Given the description of an element on the screen output the (x, y) to click on. 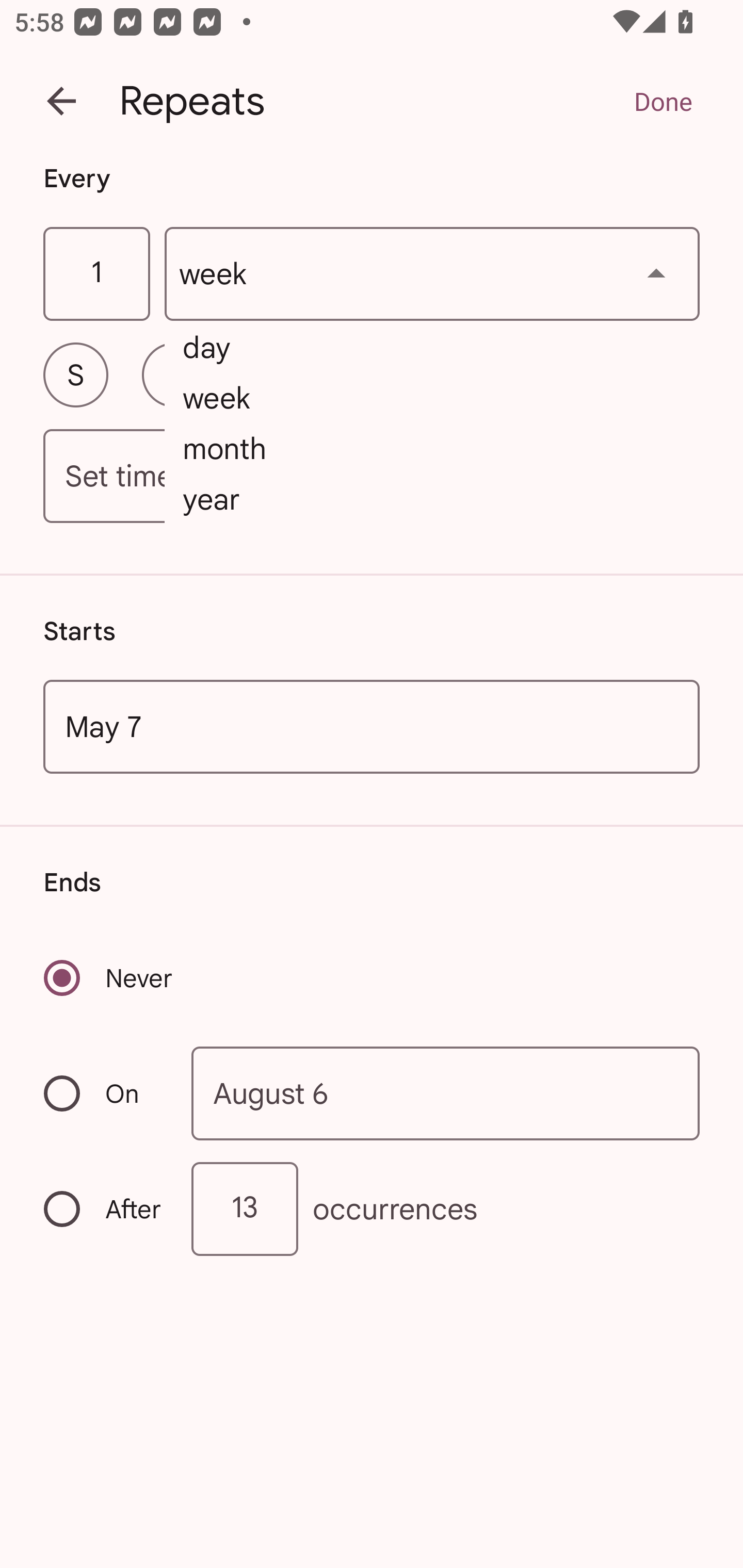
Back (61, 101)
Done (663, 101)
1 (96, 274)
week (431, 274)
Show dropdown menu (655, 273)
S Sunday (75, 374)
Set time (371, 476)
May 7 (371, 726)
Never Recurrence never ends (109, 978)
August 6 (445, 1092)
On Recurrence ends on a specific date (104, 1093)
13 (244, 1208)
